Given the description of an element on the screen output the (x, y) to click on. 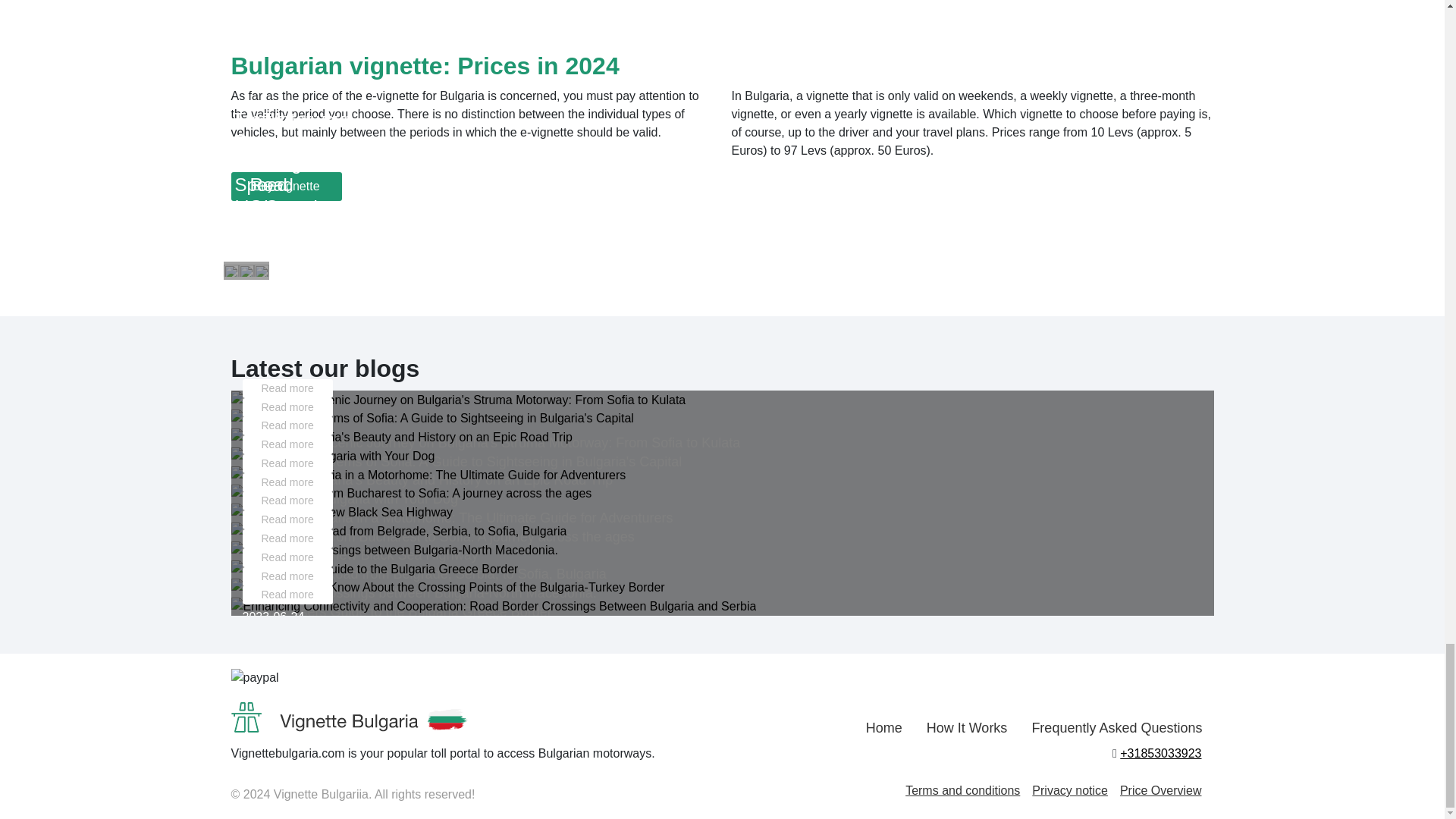
Buy vignette (285, 185)
Read more (288, 388)
paypal (254, 678)
